Given the description of an element on the screen output the (x, y) to click on. 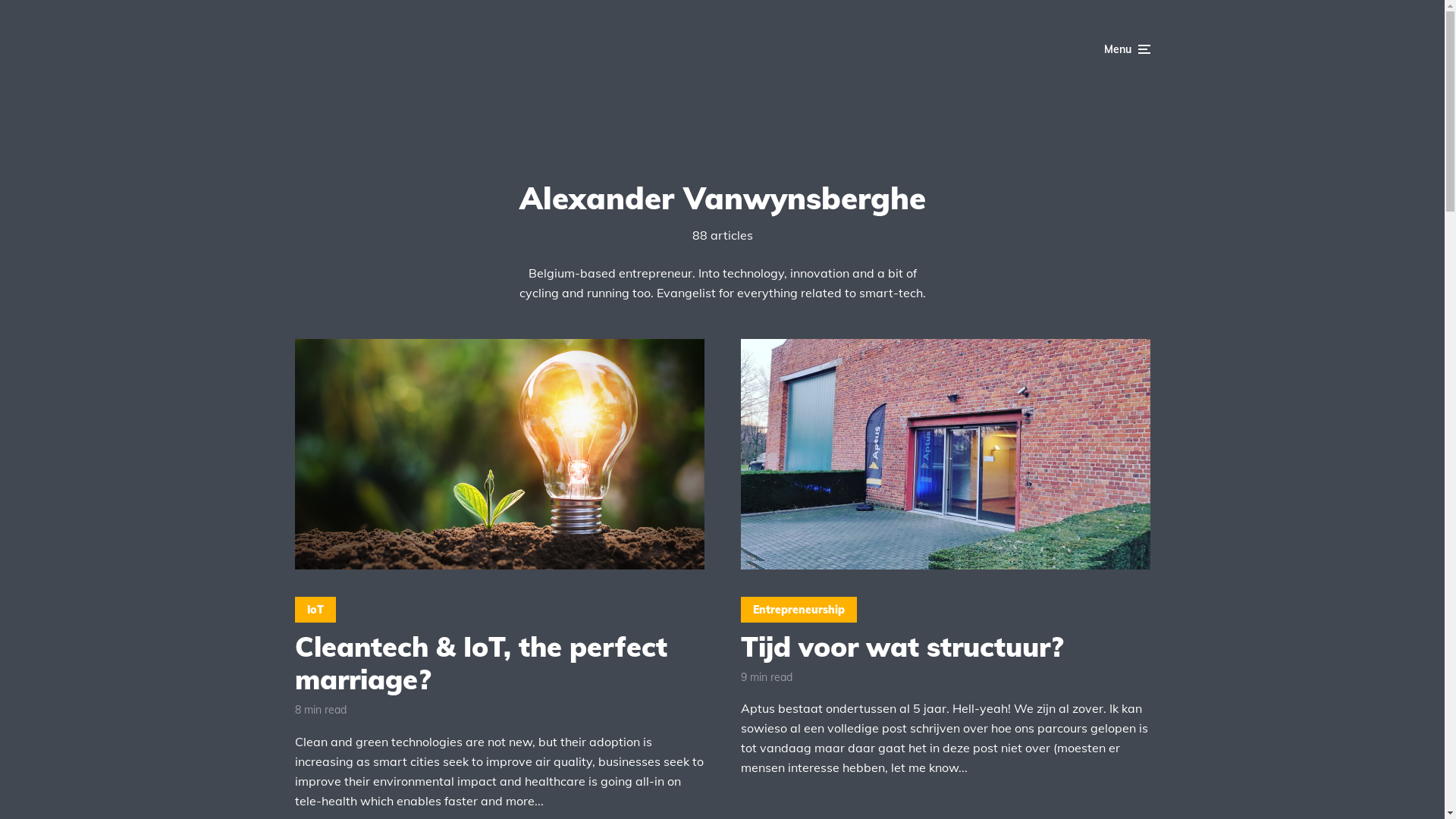
Tijd voor wat structuur? Element type: text (944, 646)
Menu Element type: text (1127, 49)
Entrepreneurship Element type: text (798, 609)
IoT Element type: text (314, 609)
Cleantech & IoT, the perfect marriage? Element type: text (498, 662)
